Given the description of an element on the screen output the (x, y) to click on. 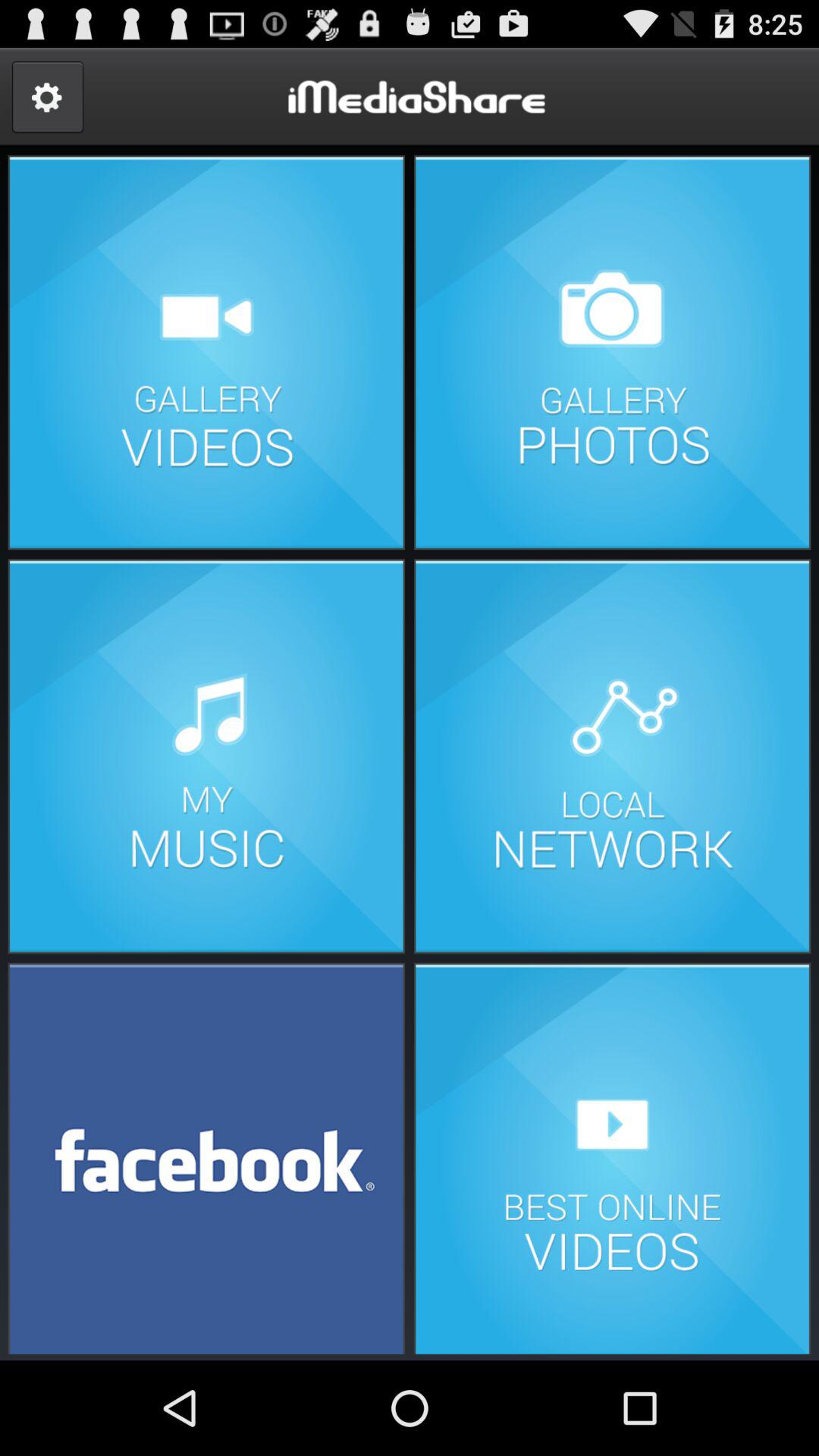
open settings (47, 97)
